Given the description of an element on the screen output the (x, y) to click on. 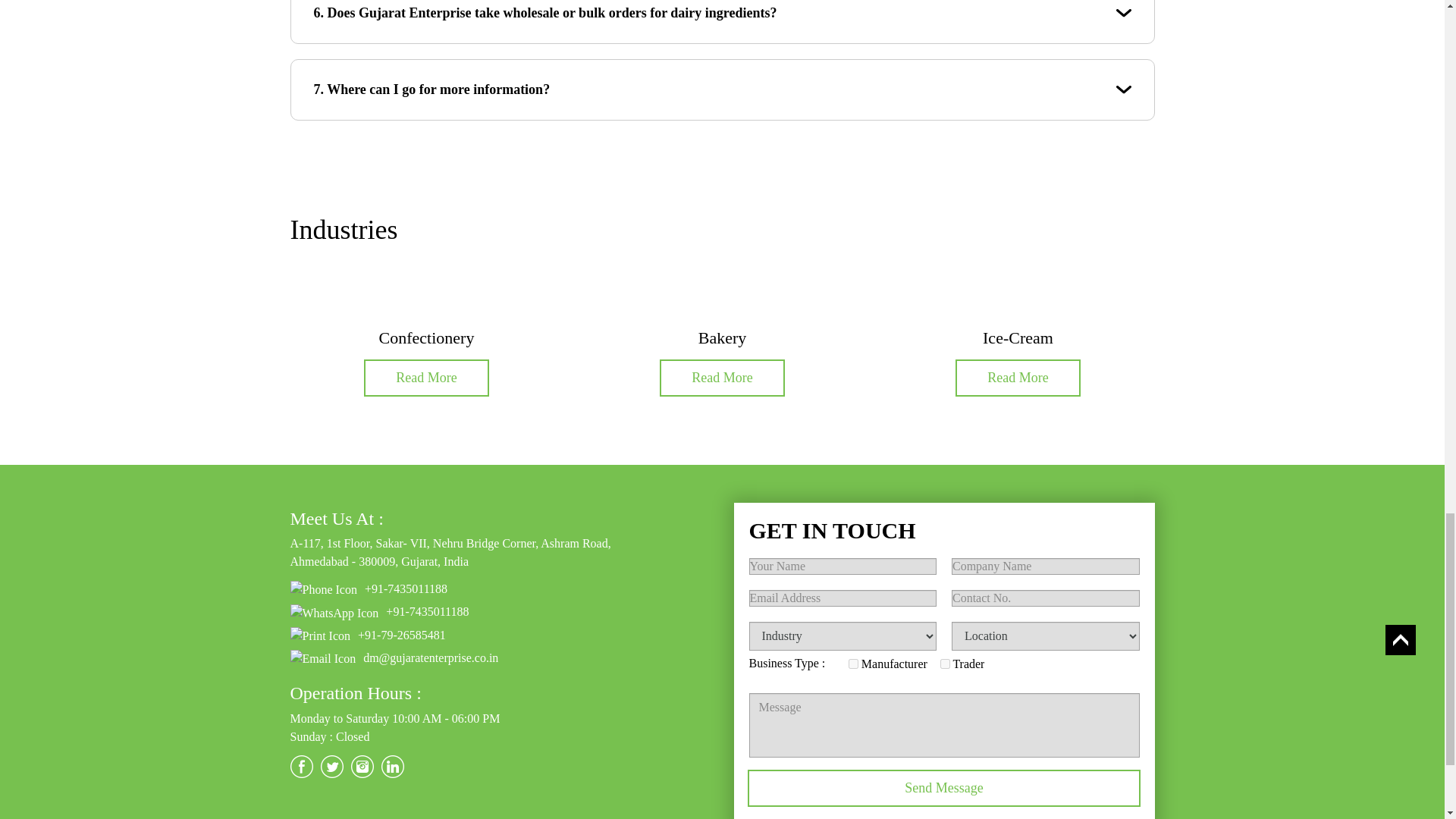
Trader (945, 664)
Send Message (944, 787)
Bakery (722, 337)
Manufacturer (853, 664)
Read More (425, 377)
Read More (721, 377)
Confectionery (426, 337)
